Given the description of an element on the screen output the (x, y) to click on. 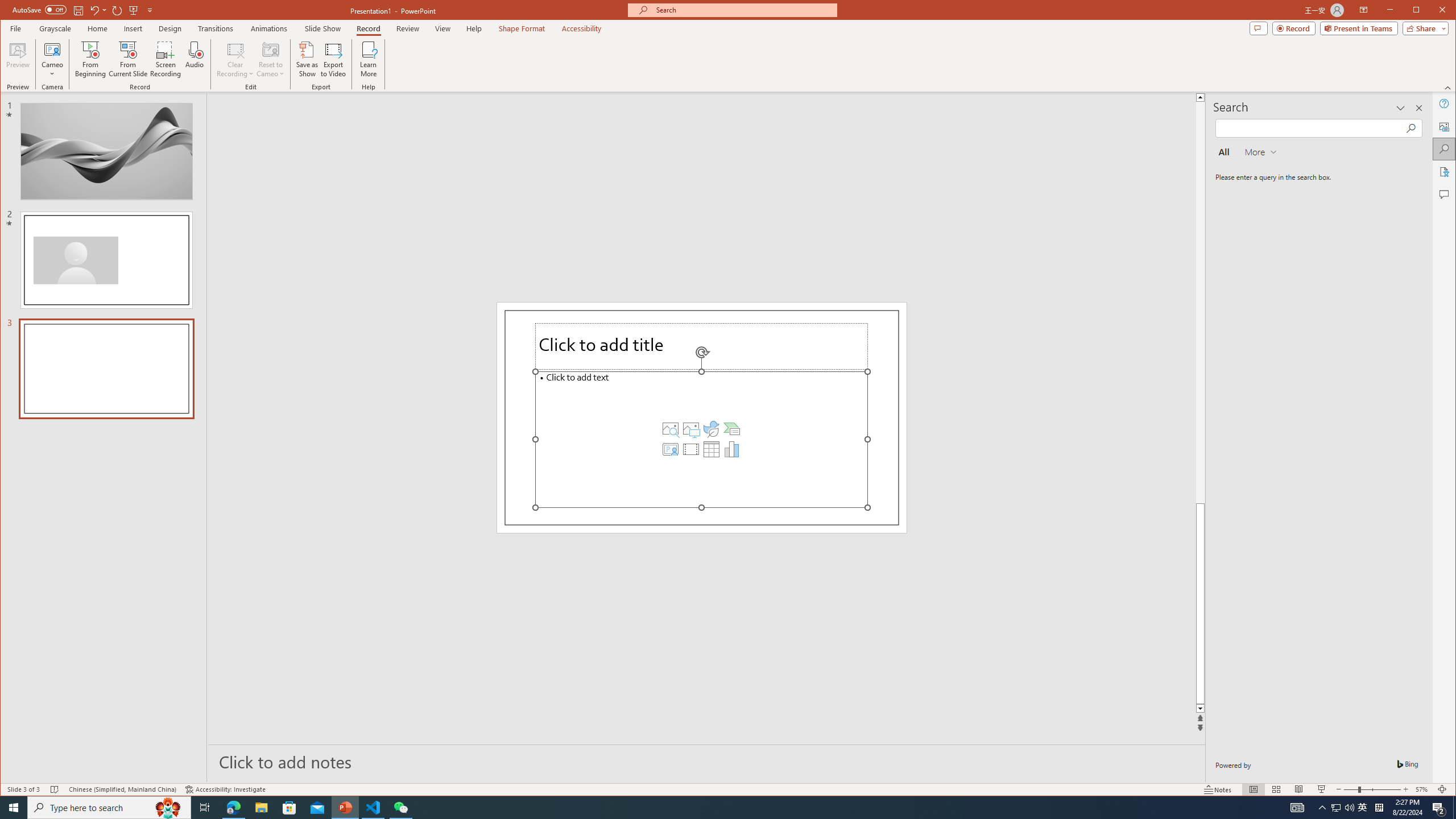
Reset to Cameo (269, 59)
